Given the description of an element on the screen output the (x, y) to click on. 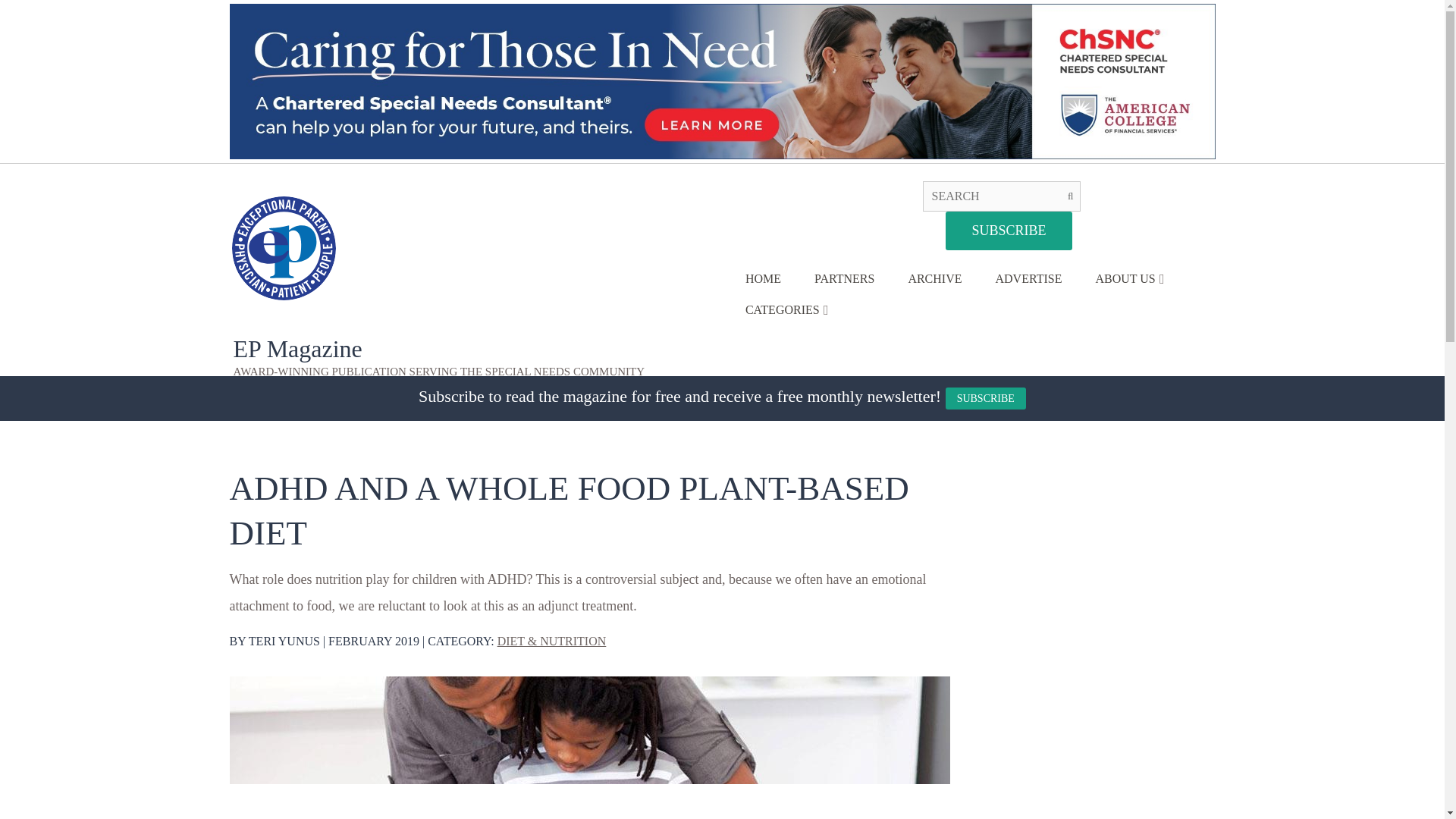
Partners (844, 282)
SUBSCRIBE (985, 398)
About Us (1125, 282)
Categories (782, 313)
ADVERTISE (1028, 282)
Home (763, 282)
PARTNERS (844, 282)
Advertise (1028, 282)
HOME (763, 282)
